Given the description of an element on the screen output the (x, y) to click on. 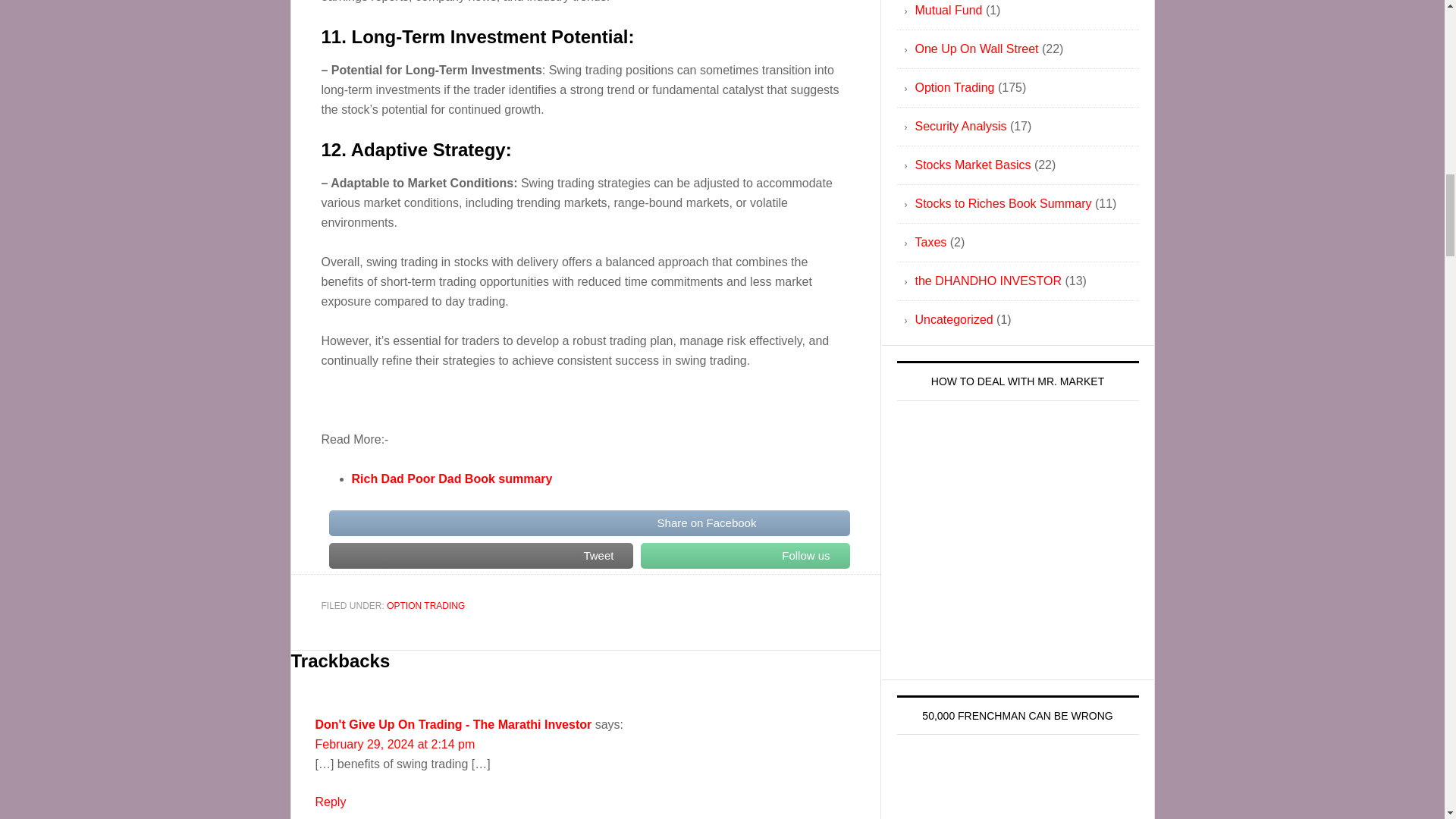
Share on Facebook (589, 522)
February 29, 2024 at 2:14 pm (395, 744)
Rich Dad Poor Dad Book summary (452, 478)
Follow us (744, 555)
Tweet (481, 555)
Don't Give Up On Trading - The Marathi Investor (453, 724)
Reply (330, 801)
OPTION TRADING (425, 605)
